Given the description of an element on the screen output the (x, y) to click on. 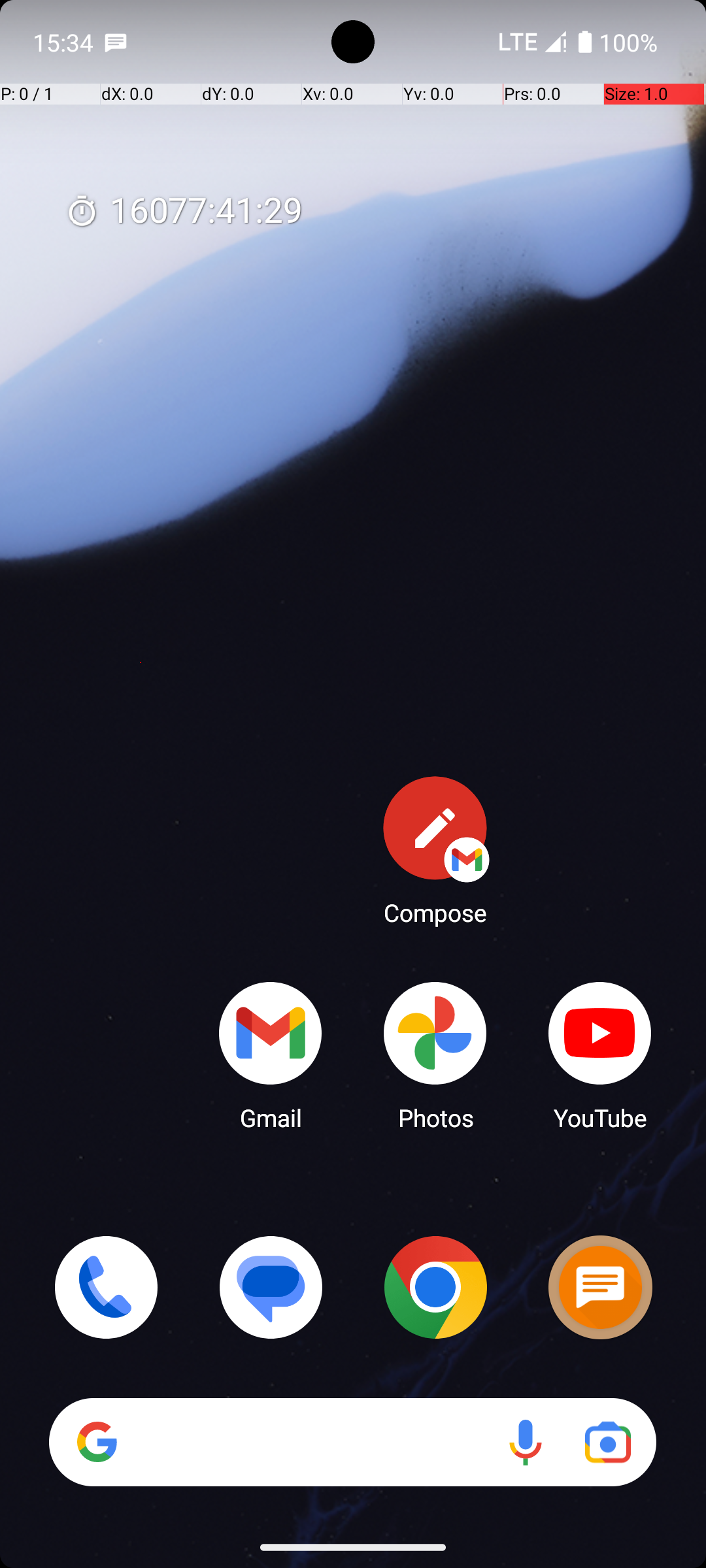
16077:41:30 Element type: android.widget.TextView (183, 210)
